Given the description of an element on the screen output the (x, y) to click on. 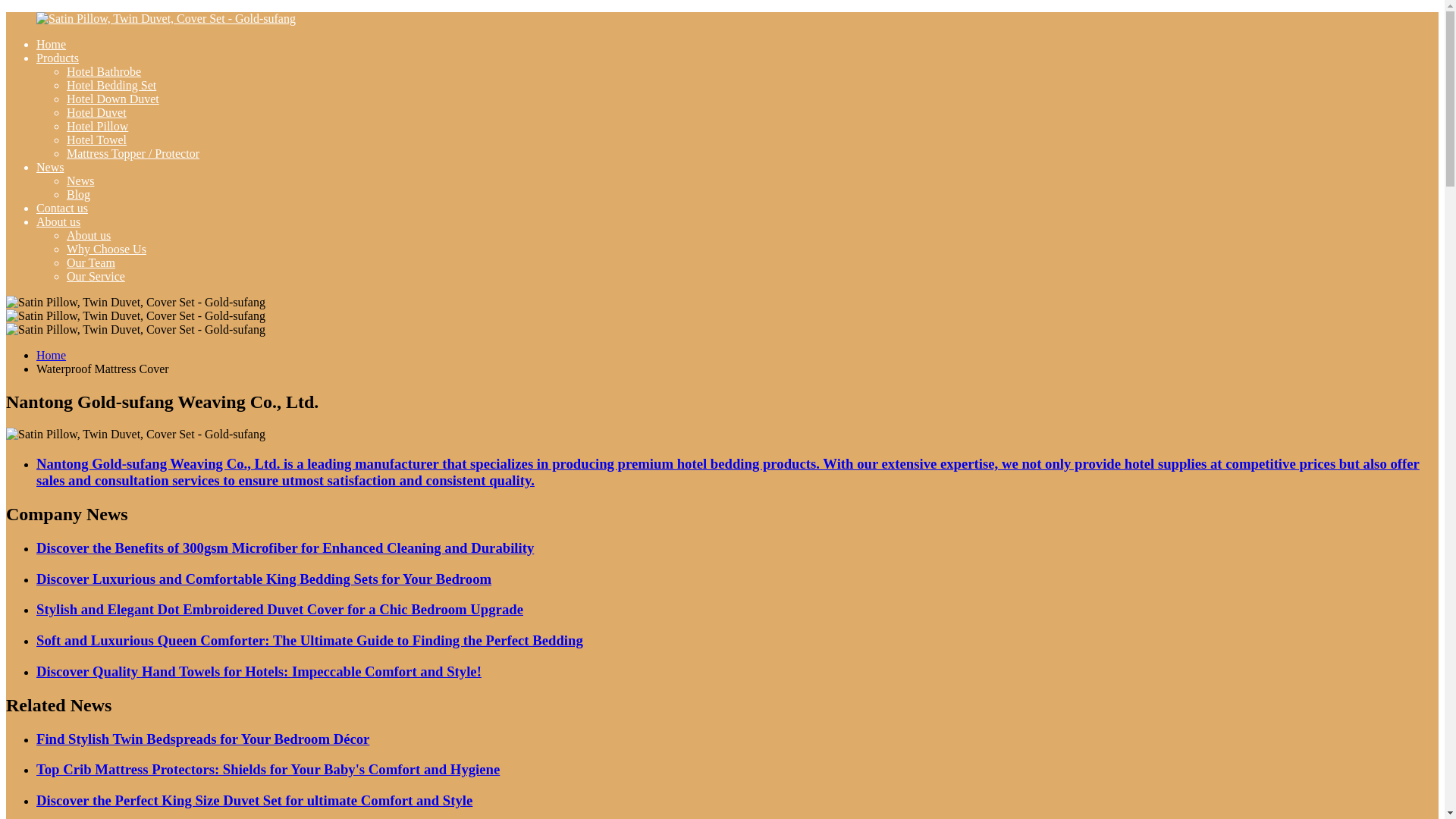
Hotel Pillow (97, 125)
About us (58, 221)
Why Choose Us (106, 248)
News (80, 180)
Our Team (90, 262)
Hotel Duvet (96, 112)
Blog (78, 194)
Hotel Bathrobe (103, 71)
Hotel Down Duvet (112, 98)
Hotel Towel (96, 139)
